Given the description of an element on the screen output the (x, y) to click on. 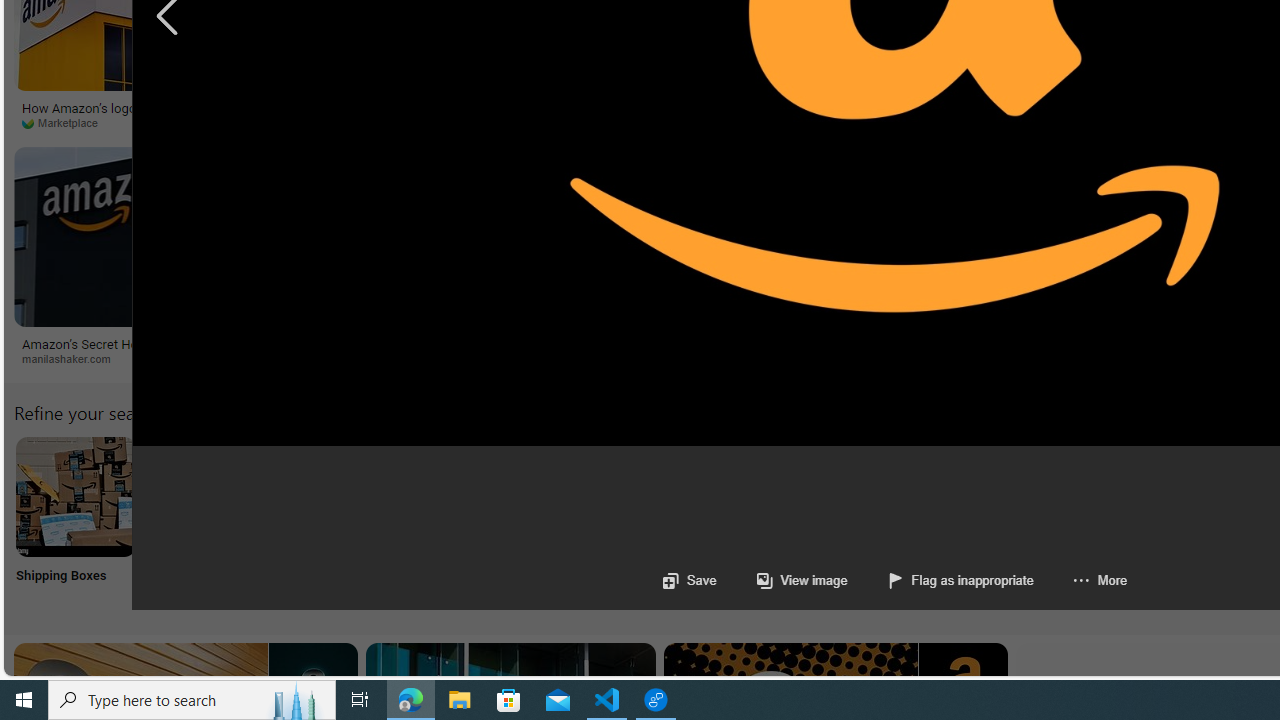
Package Delivery (735, 521)
3d illustration of amazon logo 18779928 PNG (1015, 114)
Amazon Shipping Boxes (75, 496)
Amazon Package Delivery Package Delivery (735, 521)
Amazon Online Store Online Store (1131, 521)
Retail Store (867, 521)
Dallas Morning News (756, 123)
agilitypr.com (1035, 358)
Amazon (821, 343)
cordcuttersnews.com (503, 359)
Clip Art (339, 521)
